Given the description of an element on the screen output the (x, y) to click on. 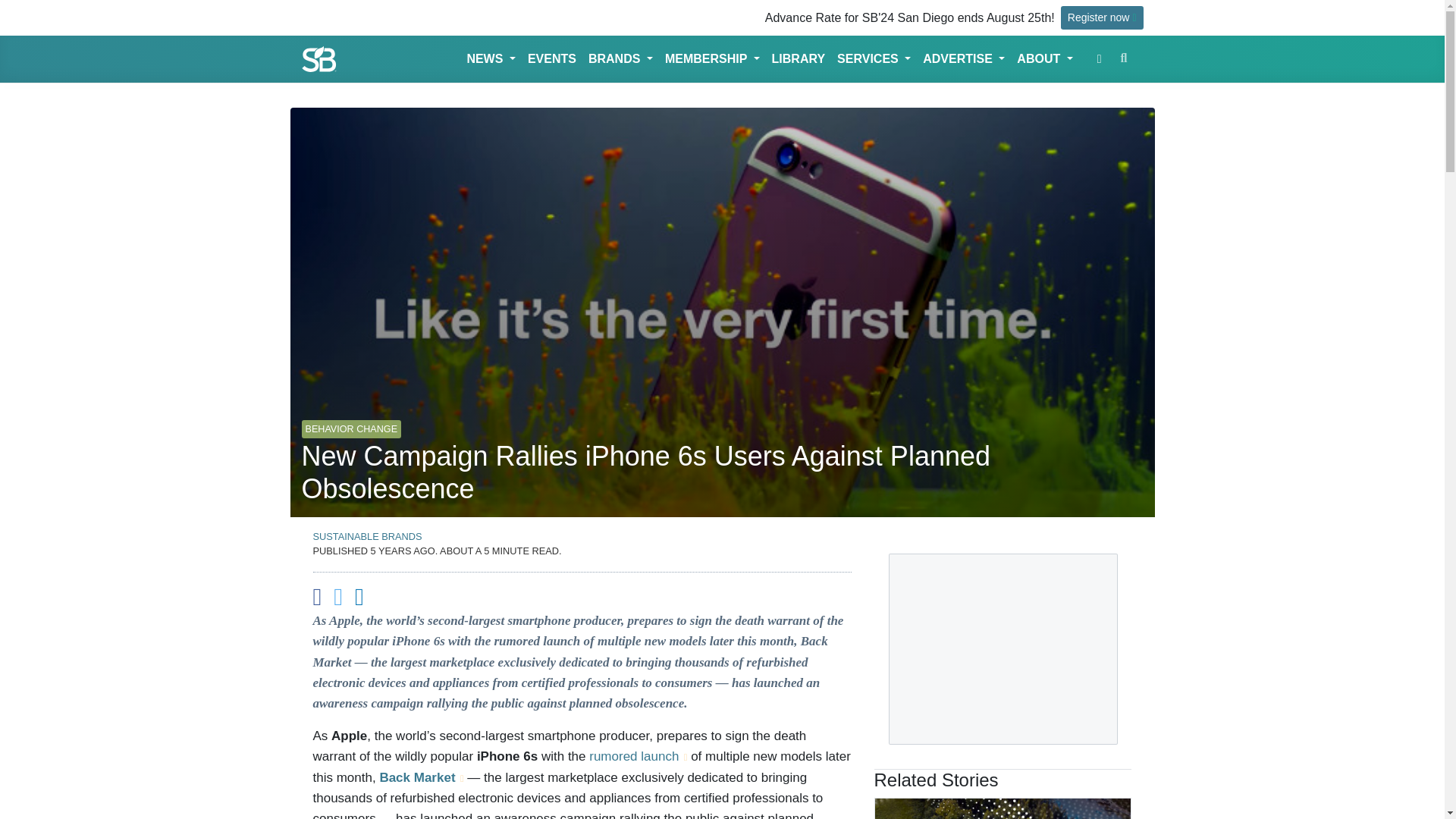
BRANDS (620, 59)
MEMBERSHIP (712, 59)
3rd party ad content (1002, 648)
BEHAVIOR CHANGE (351, 422)
ABOUT (1044, 59)
LIBRARY (798, 59)
Back Market (420, 777)
EVENTS (551, 59)
SUSTAINABLE BRANDS (367, 536)
NEWS (490, 59)
